Given the description of an element on the screen output the (x, y) to click on. 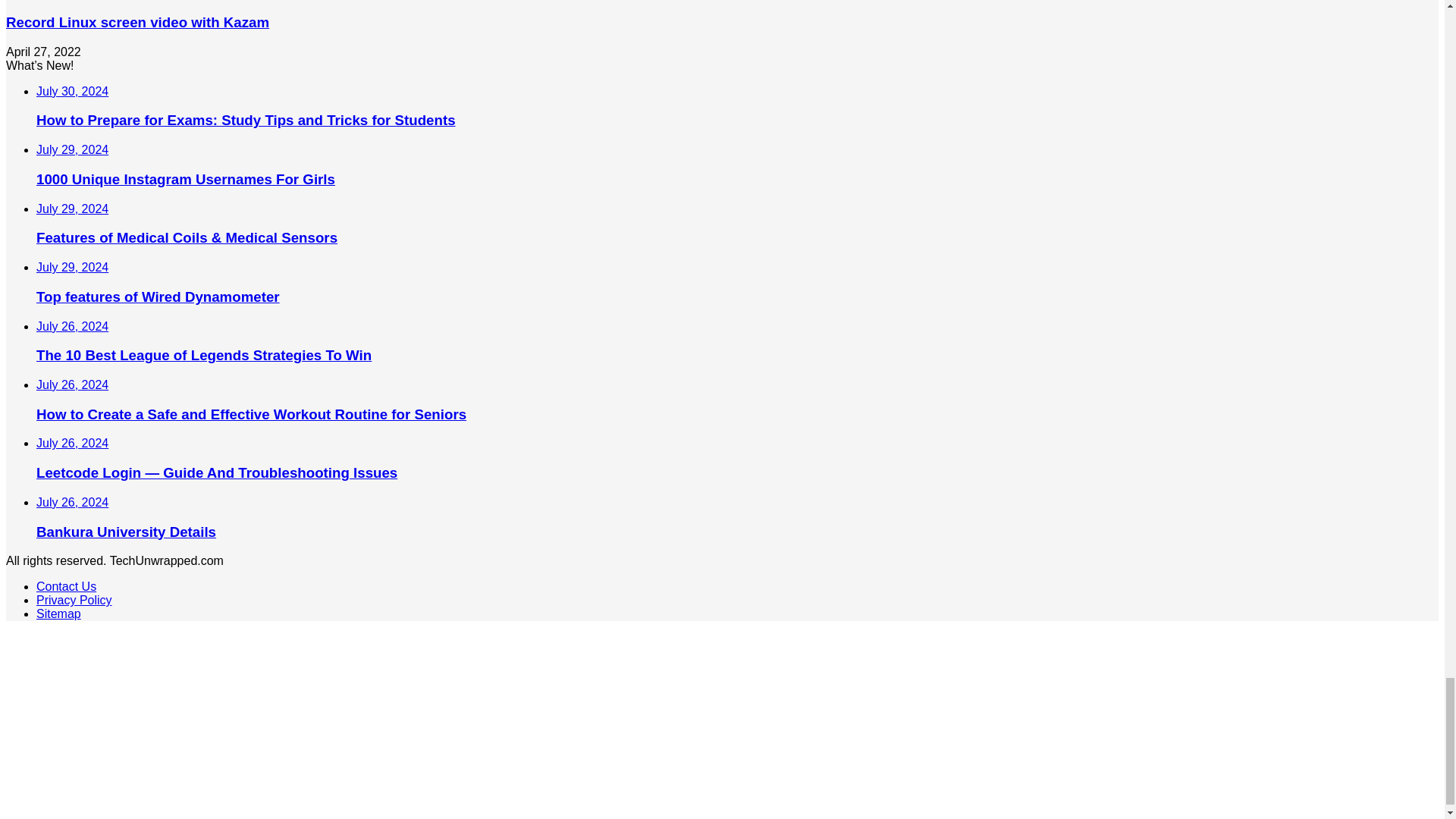
Privacy Policy (74, 599)
Contact Us (66, 585)
Sitemap (58, 613)
Record Linux screen video with Kazam (137, 22)
